Given the description of an element on the screen output the (x, y) to click on. 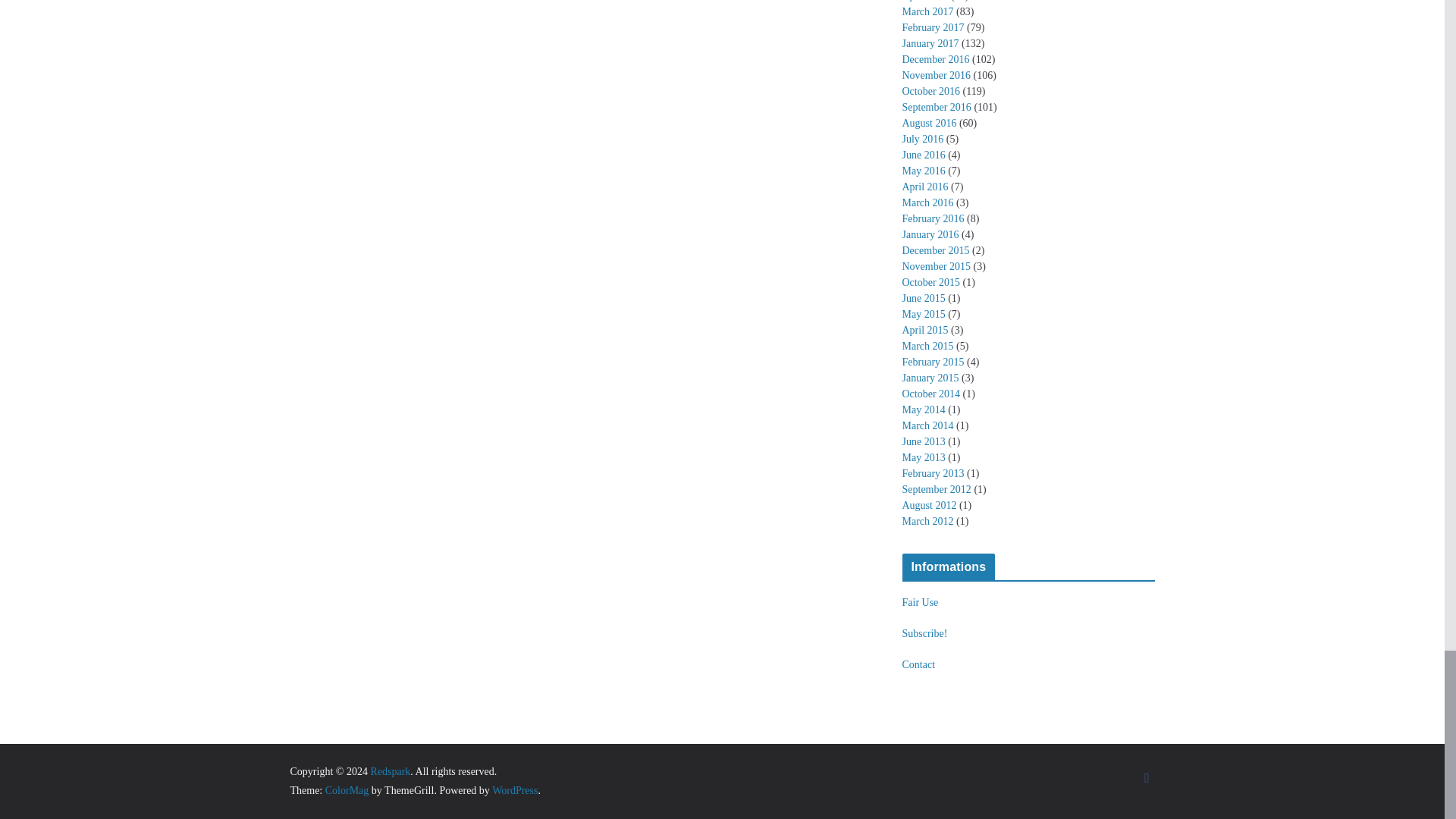
WordPress (514, 790)
Redspark (389, 771)
ColorMag (346, 790)
